Given the description of an element on the screen output the (x, y) to click on. 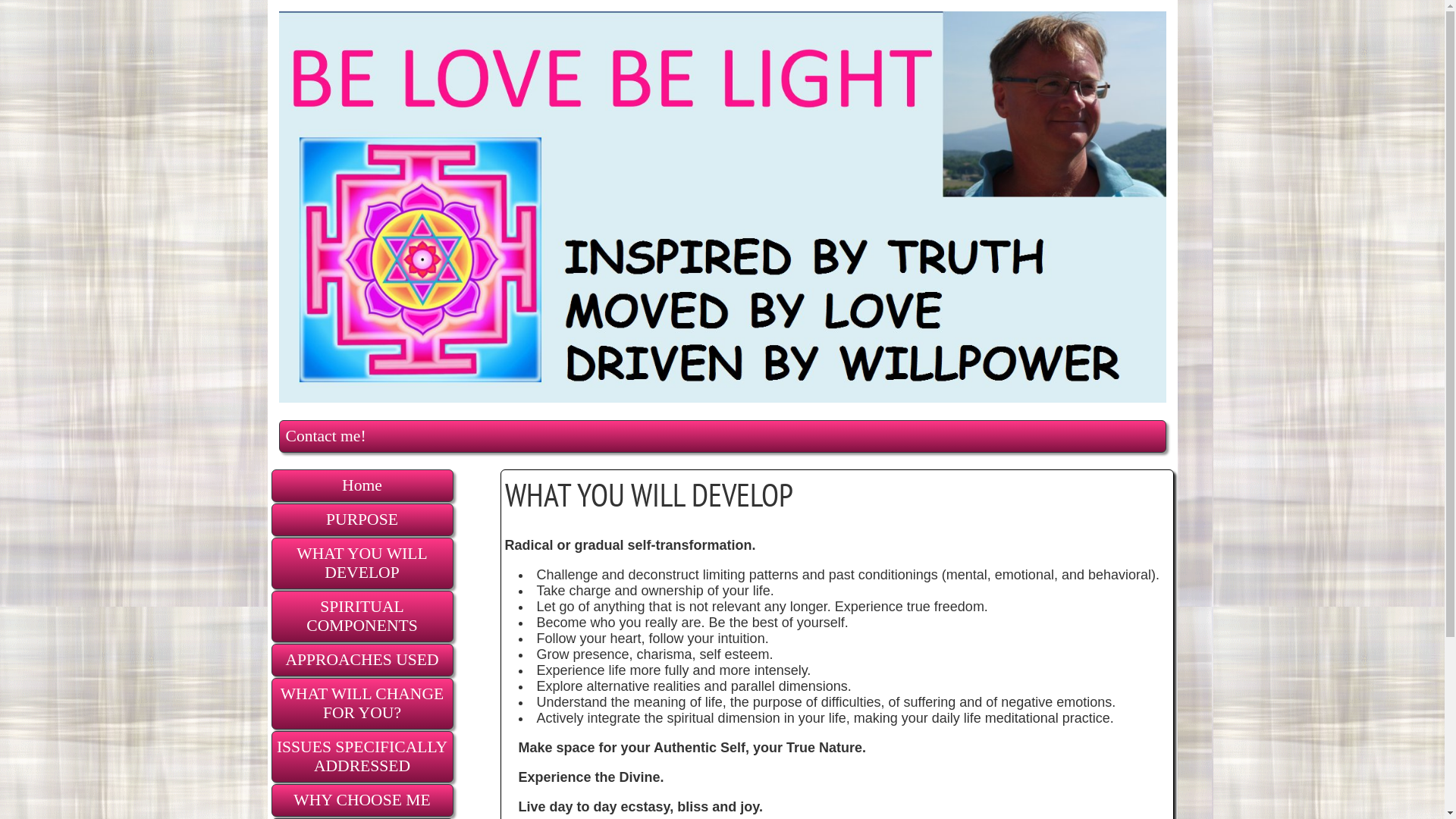
WHAT YOU WILL DEVELOP Element type: text (361, 563)
ISSUES SPECIFICALLY ADDRESSED Element type: text (361, 756)
Home Element type: text (361, 485)
APPROACHES USED Element type: text (361, 659)
WHAT WILL CHANGE FOR YOU? Element type: text (361, 703)
SPIRITUAL COMPONENTS Element type: text (361, 616)
PURPOSE Element type: text (361, 519)
WHY CHOOSE ME Element type: text (361, 799)
Contact me! Element type: text (721, 435)
